Given the description of an element on the screen output the (x, y) to click on. 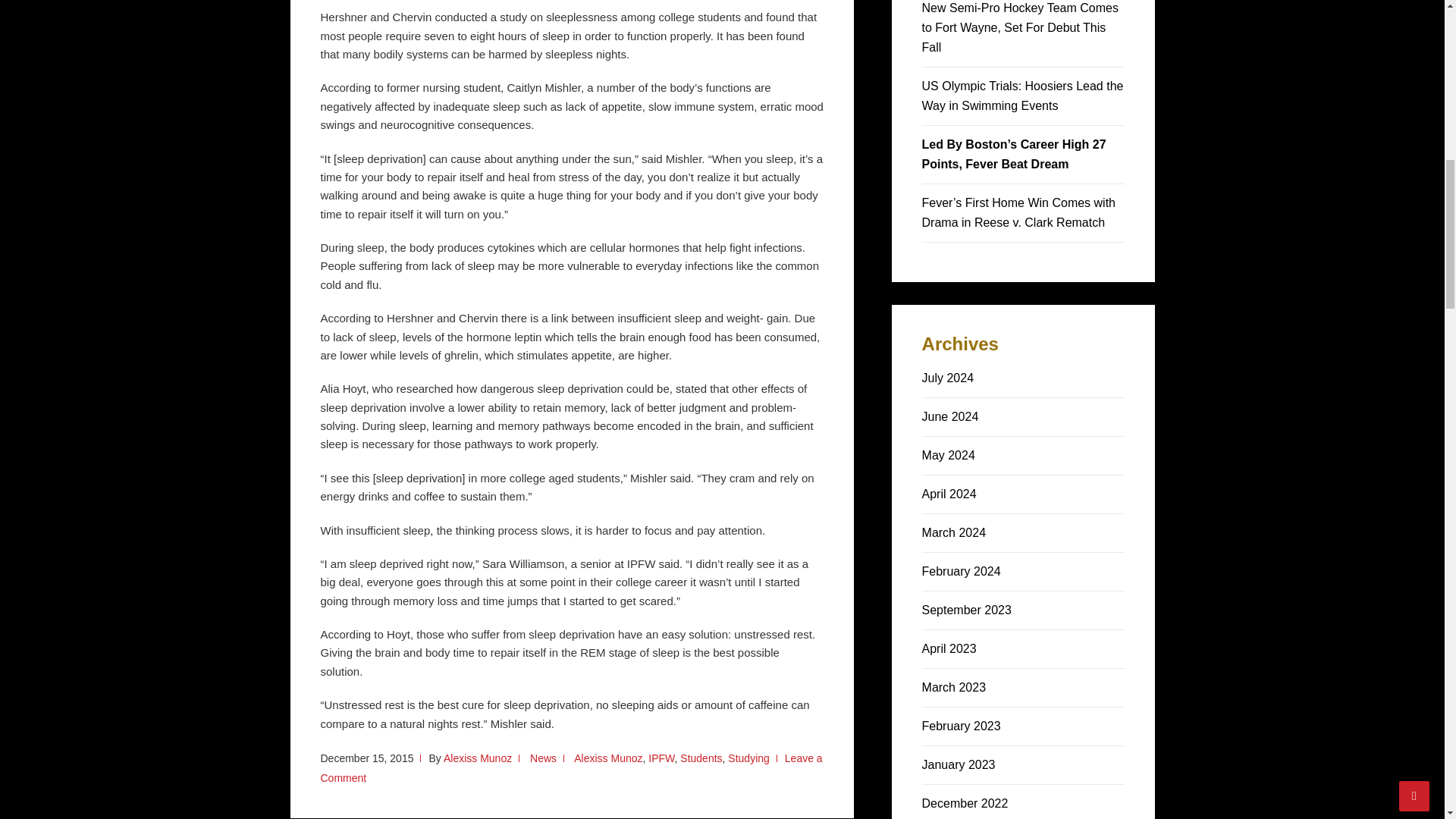
US Olympic Trials: Hoosiers Lead the Way in Swimming Events (1022, 95)
April 2023 (948, 648)
February 2024 (961, 571)
July 2024 (947, 377)
News (542, 758)
May 2024 (948, 454)
April 2024 (948, 493)
September 2023 (966, 609)
June 2024 (949, 416)
Leave a Comment (571, 767)
View all posts by Alexiss Munoz (478, 758)
Alexiss Munoz (607, 758)
IPFW (660, 758)
Students (700, 758)
